Given the description of an element on the screen output the (x, y) to click on. 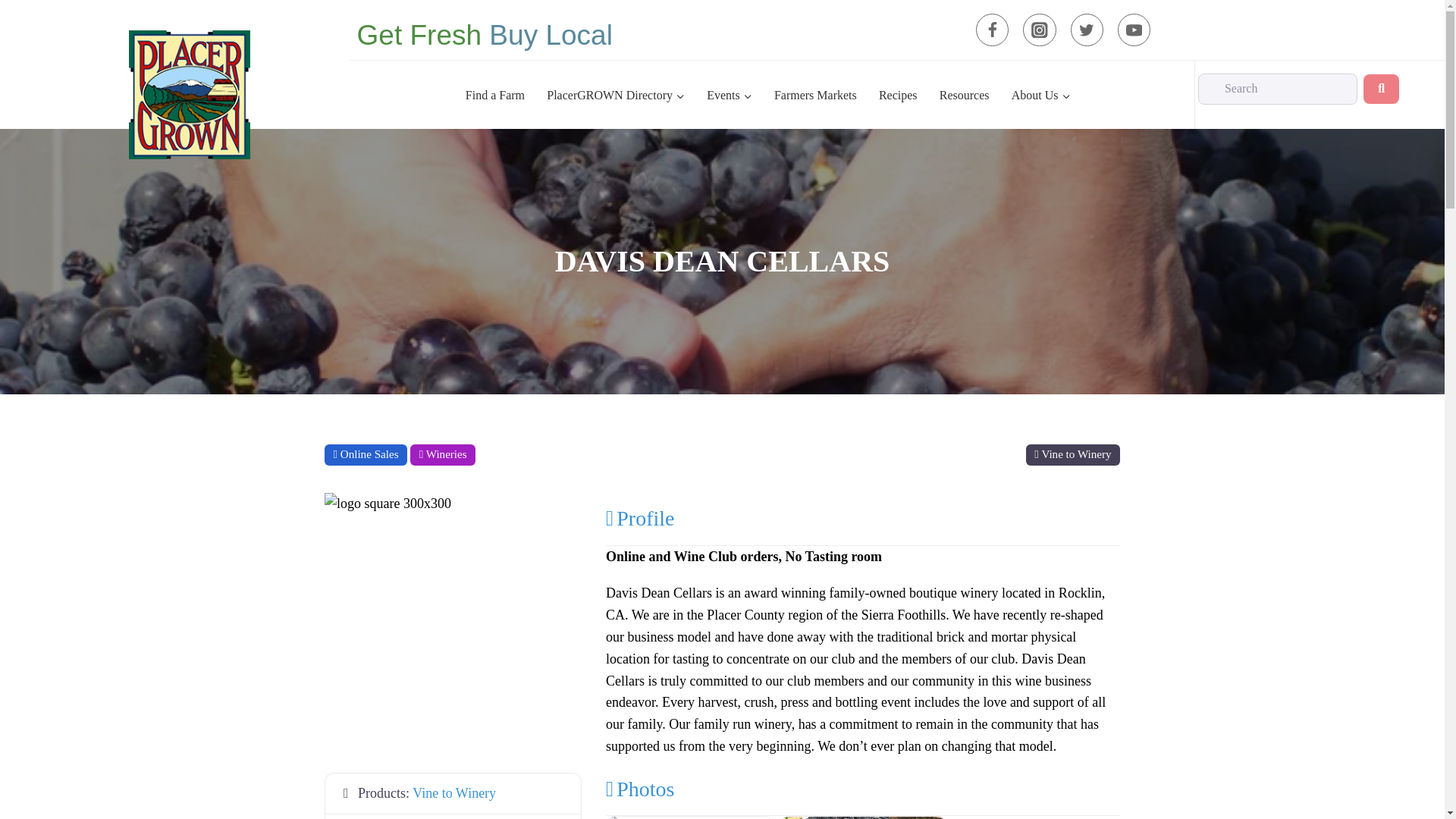
Search (1380, 88)
PlacerGROWN Directory (616, 94)
Vine to Winery (454, 792)
Find a Farm (494, 94)
Vine to Winery (1072, 455)
Resources (963, 94)
Wineries (443, 455)
About Us (1040, 94)
Online Sales (365, 455)
Farmers Markets (815, 94)
